Given the description of an element on the screen output the (x, y) to click on. 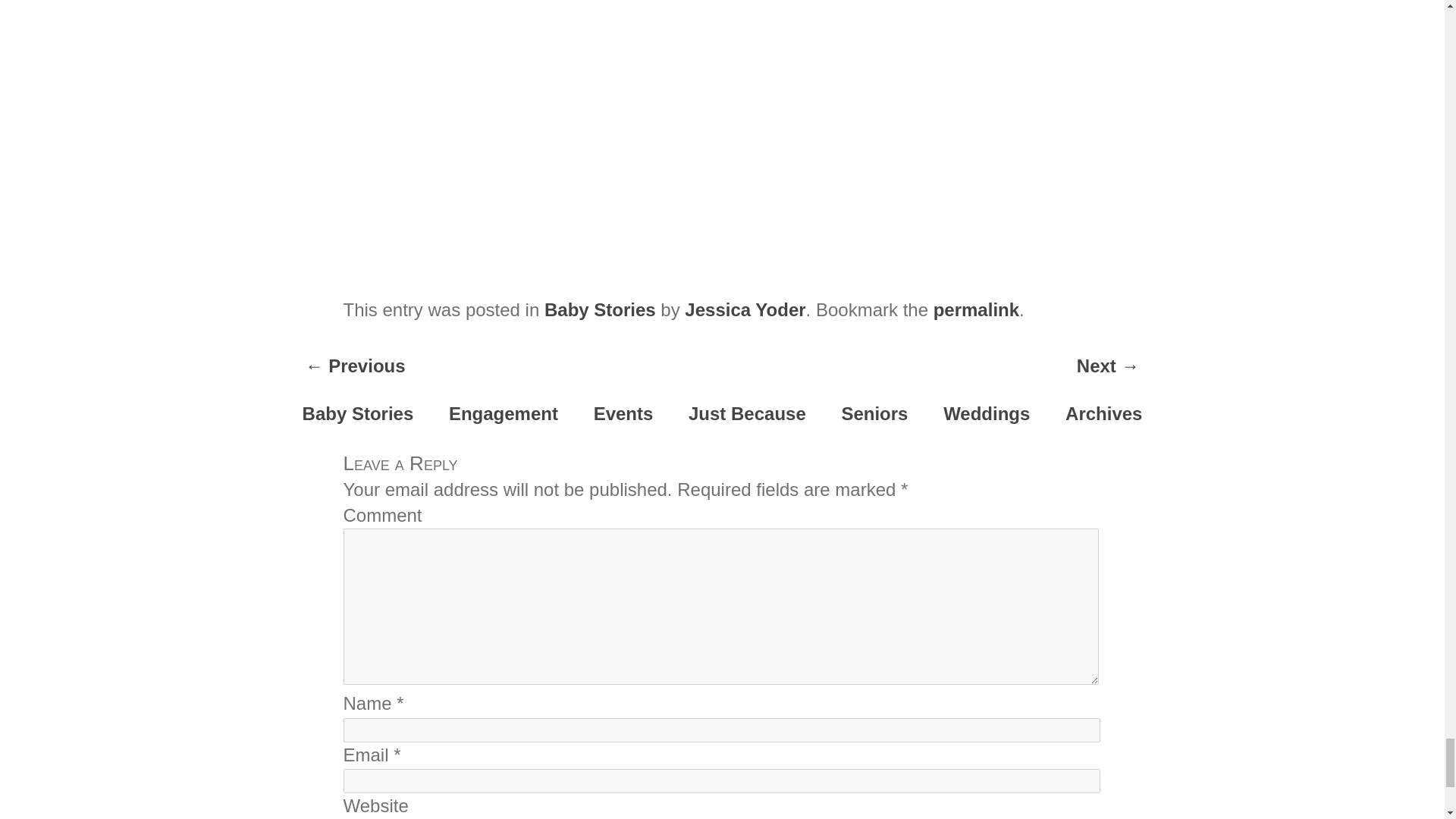
Permalink to Newborn: Finley Michelle (976, 309)
permalink (976, 309)
Baby Stories (600, 309)
Jessica Yoder (744, 309)
